Given the description of an element on the screen output the (x, y) to click on. 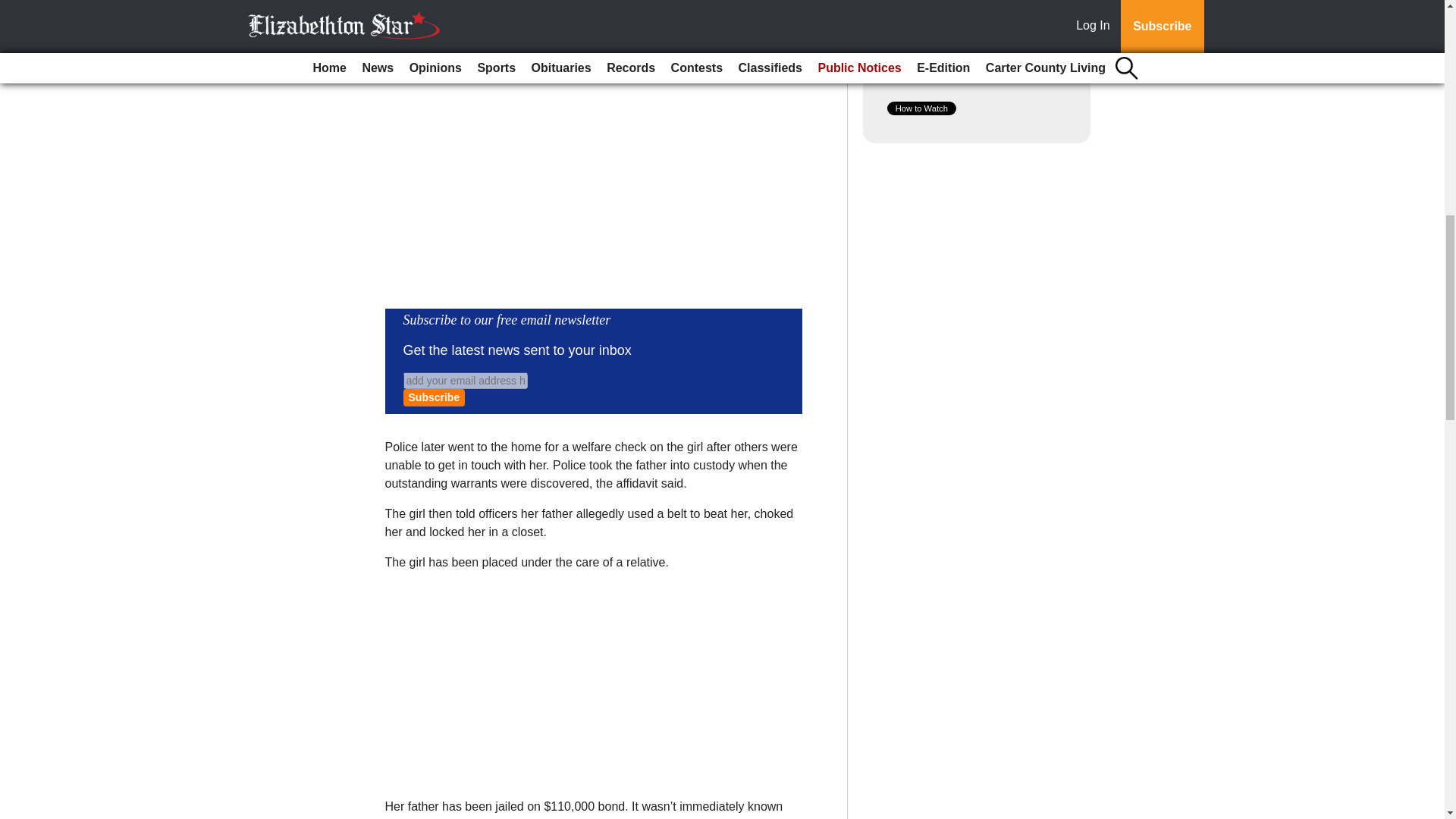
How to Watch (921, 108)
Subscribe (434, 397)
Subscribe (434, 397)
